Given the description of an element on the screen output the (x, y) to click on. 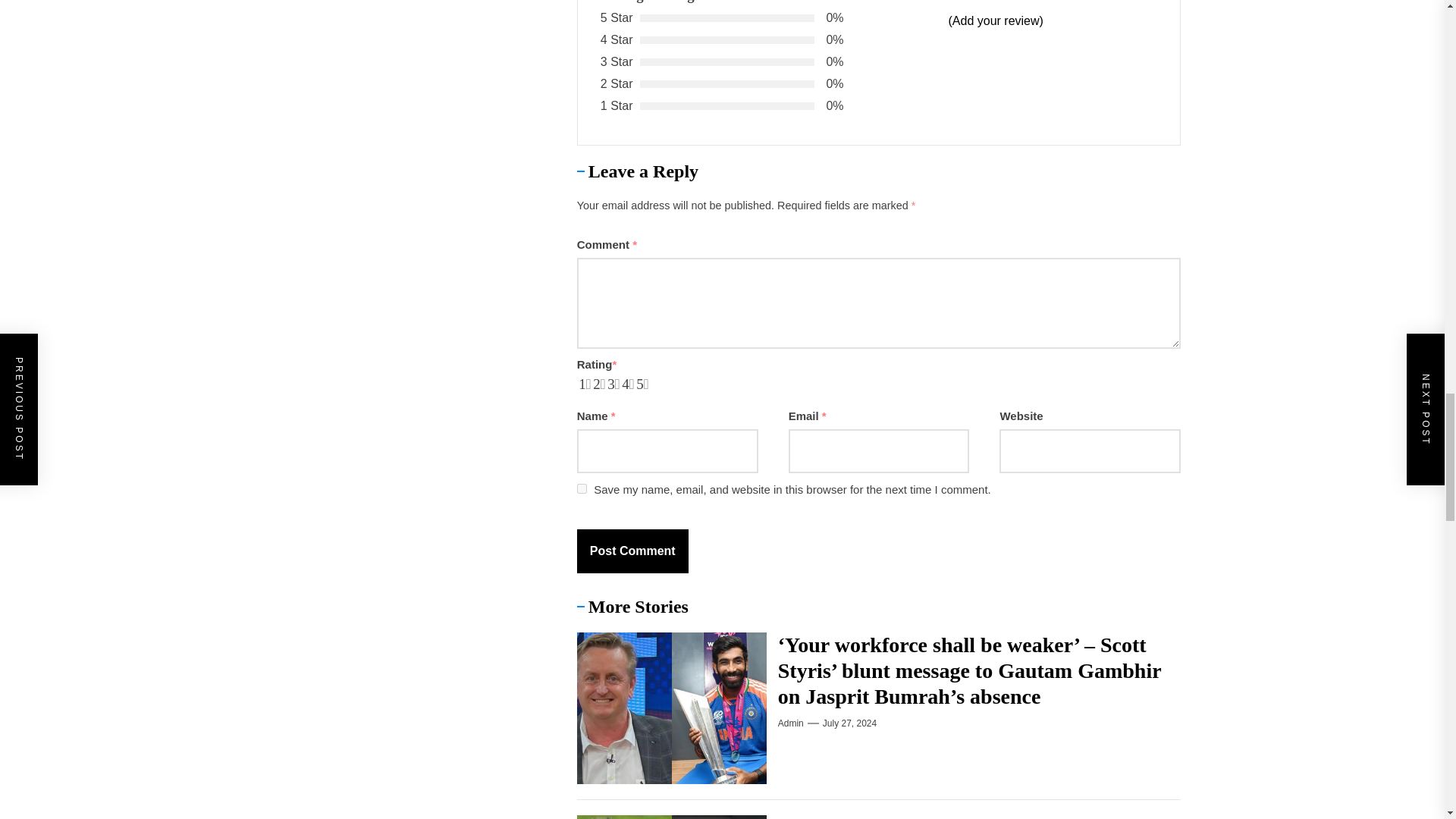
yes (581, 488)
Post Comment (632, 551)
